Given the description of an element on the screen output the (x, y) to click on. 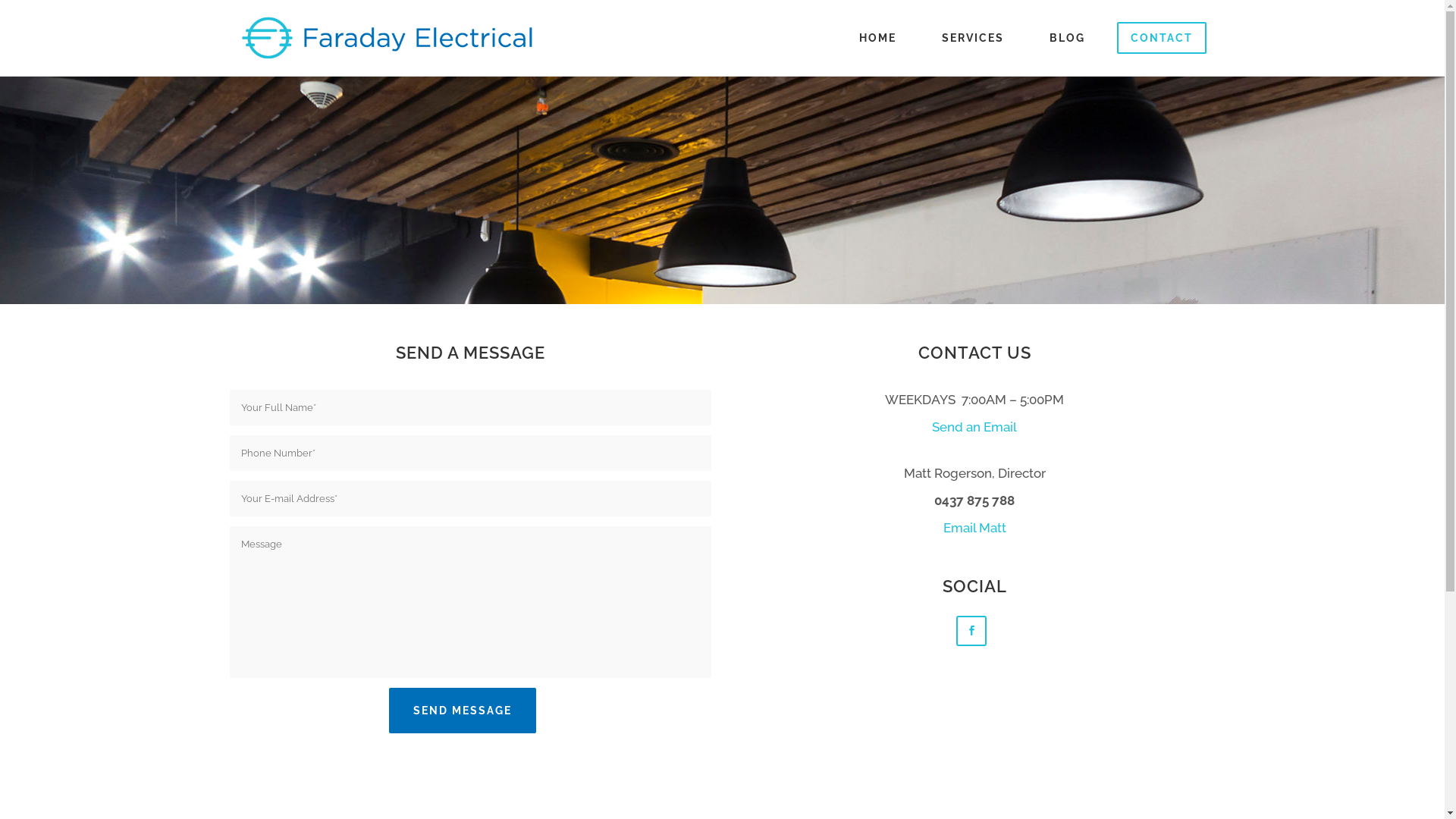
SERVICES Element type: text (972, 37)
SEND MESSAGE Element type: text (462, 710)
Send an Email Element type: text (973, 426)
BLOG Element type: text (1066, 37)
Email Matt Element type: text (974, 527)
CONTACT Element type: text (1160, 37)
HOME Element type: text (876, 37)
